Given the description of an element on the screen output the (x, y) to click on. 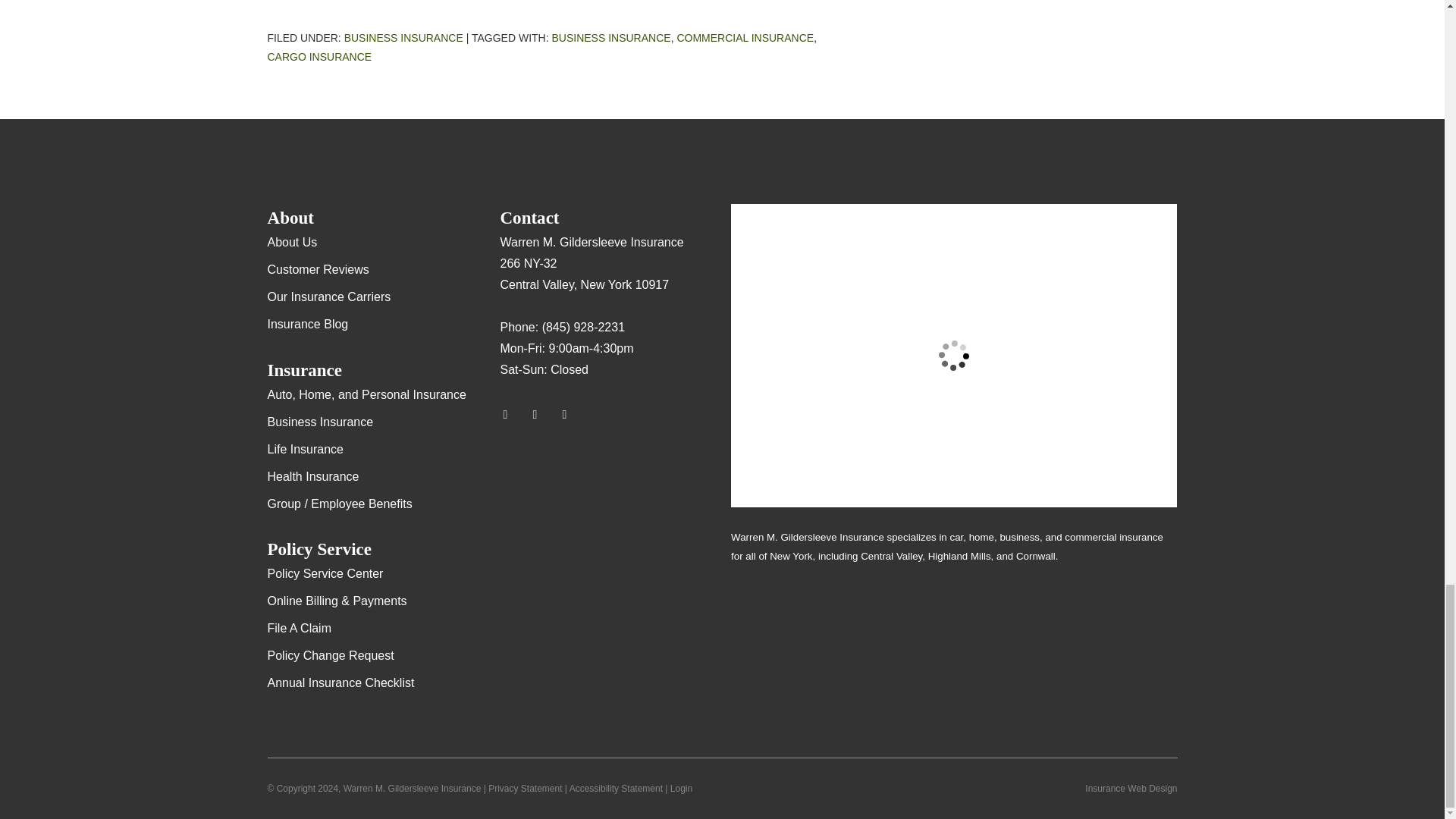
Commercial Insurance (745, 37)
Facebook (571, 414)
Google Maps (511, 414)
Business Insurance (403, 37)
Cargo Insurance (318, 56)
Yelp (541, 414)
Business Insurance (610, 37)
